Given the description of an element on the screen output the (x, y) to click on. 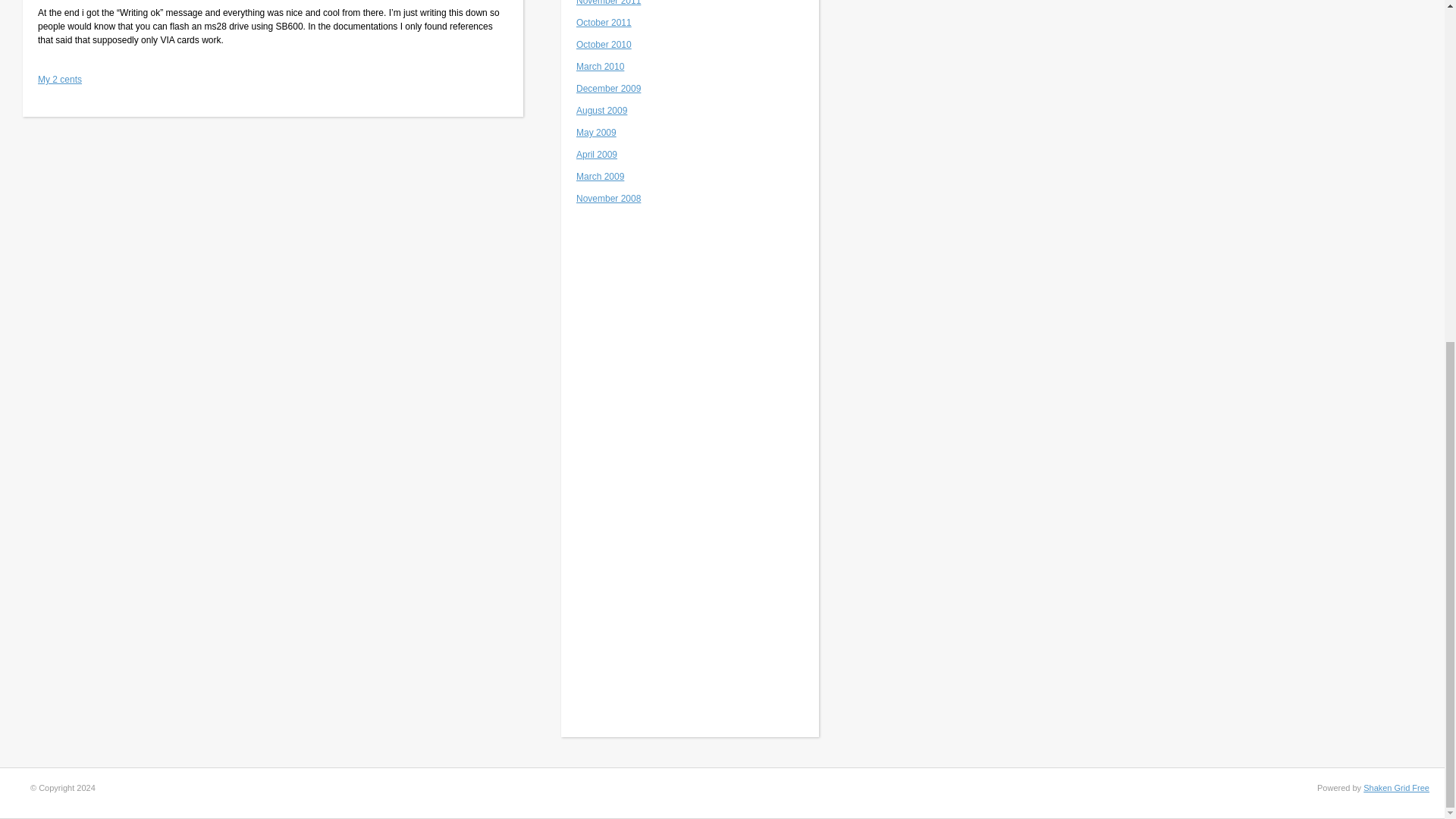
My 2 cents (59, 79)
December 2009 (608, 88)
May 2009 (595, 132)
April 2009 (596, 154)
March 2010 (600, 66)
Shaken Grid Free (1395, 787)
March 2009 (600, 176)
August 2009 (601, 110)
October 2011 (603, 22)
November 2011 (608, 2)
